Given the description of an element on the screen output the (x, y) to click on. 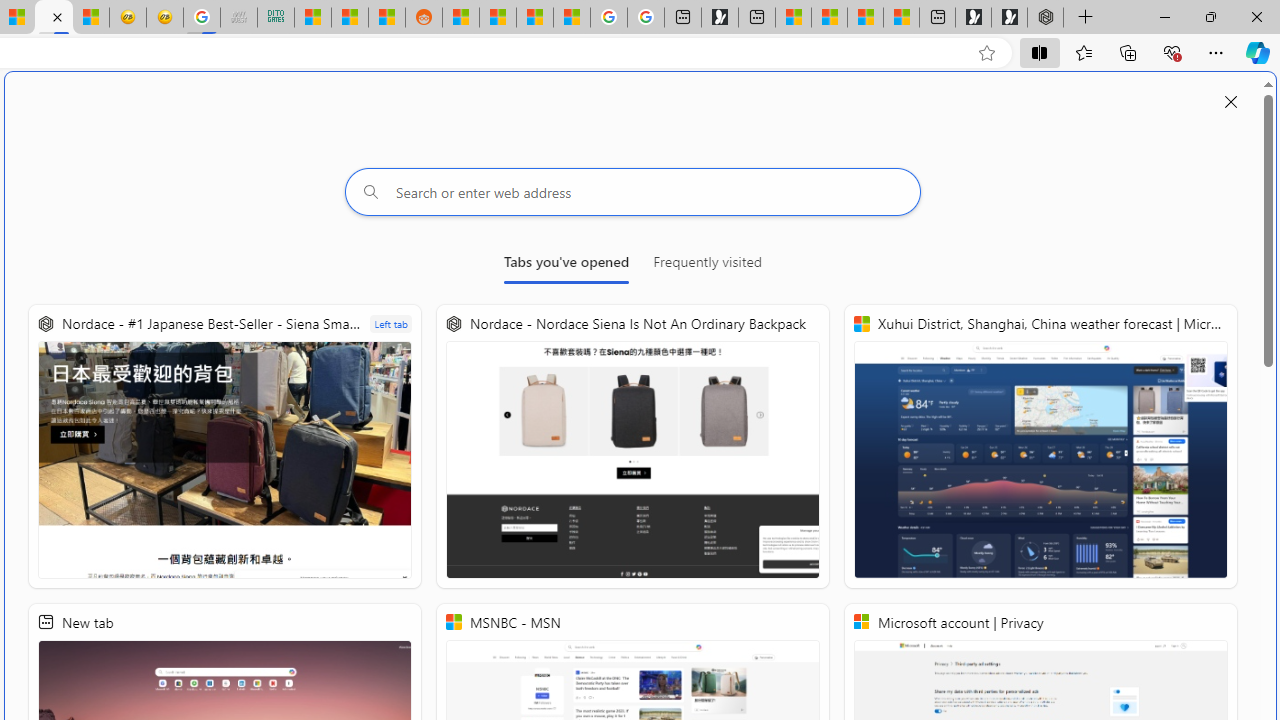
Frequently visited (707, 265)
Tabs you've opened (566, 265)
Play Free Online Games | Games from Microsoft Start (1009, 17)
Navy Quest (239, 17)
R******* | Trusted Community Engagement and Contributions (460, 17)
New tab (937, 17)
Close (1256, 16)
Settings and more (Alt+F) (1215, 52)
Collections (1128, 52)
Add this page to favorites (Ctrl+D) (986, 53)
